Given the description of an element on the screen output the (x, y) to click on. 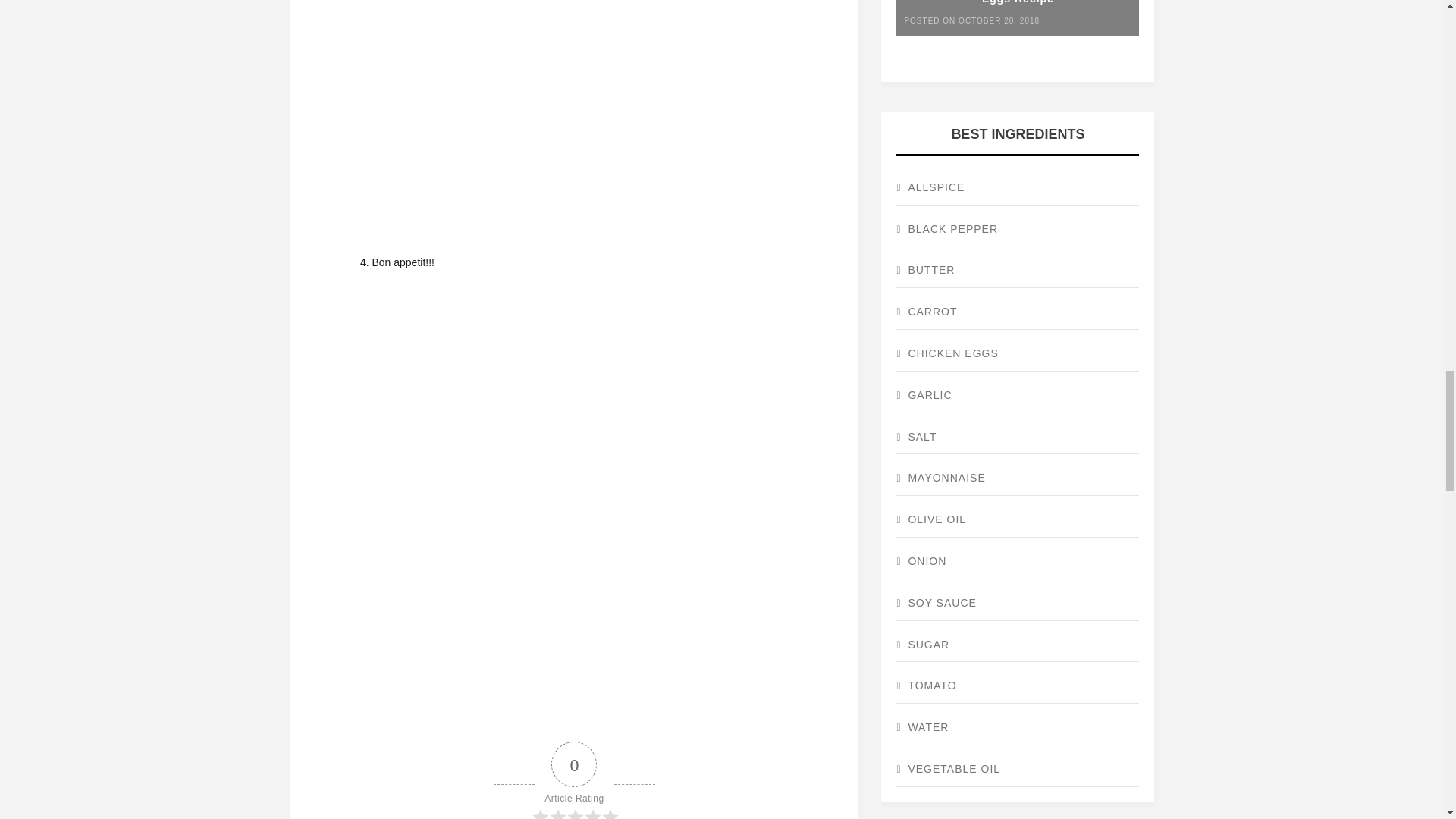
Bon appetit!!! (573, 702)
